Given the description of an element on the screen output the (x, y) to click on. 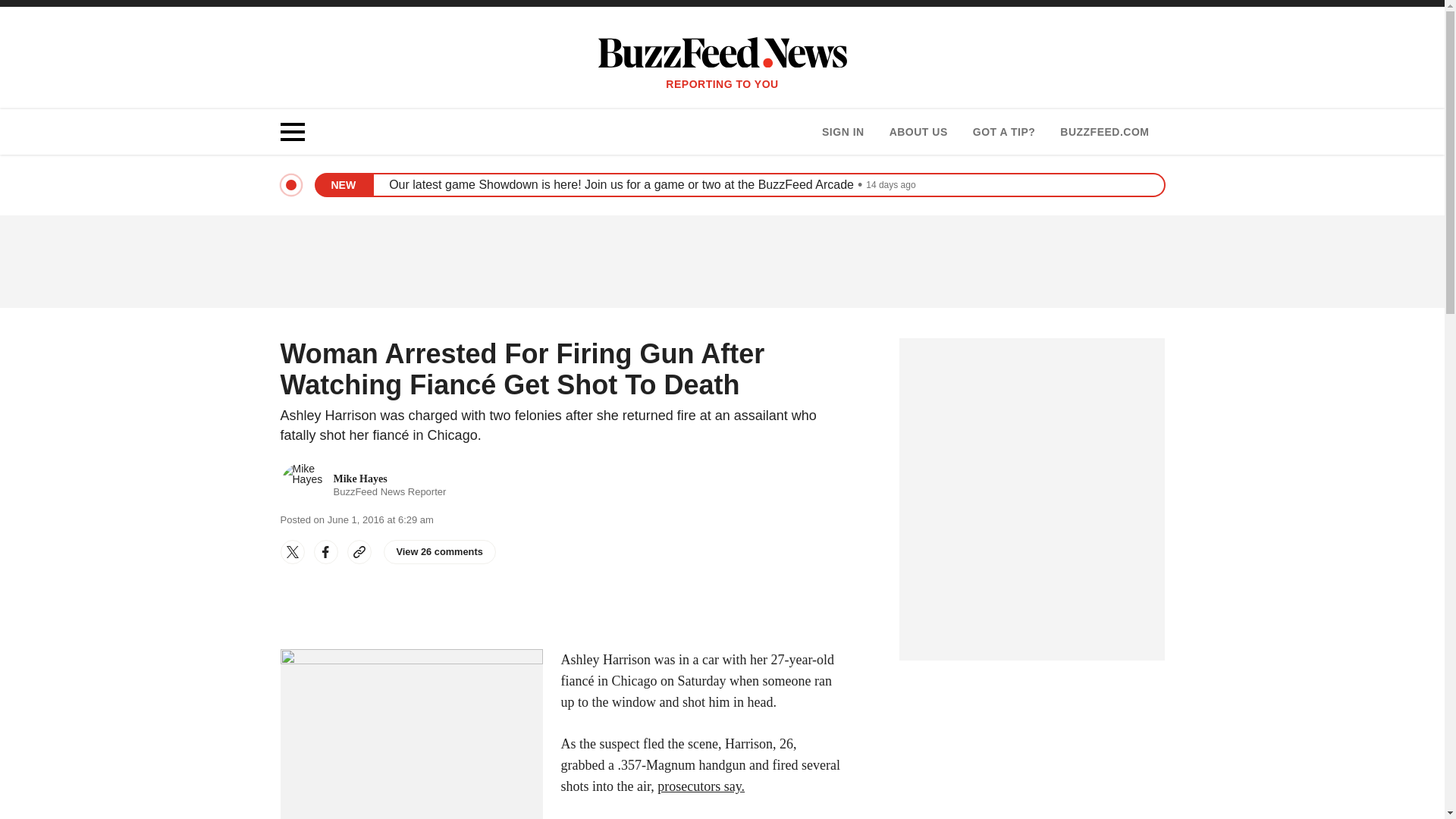
ABOUT US (917, 131)
BUZZFEED.COM (1103, 131)
View 26 comments (440, 551)
GOT A TIP? (1003, 131)
prosecutors say. (701, 785)
SIGN IN (363, 484)
